Given the description of an element on the screen output the (x, y) to click on. 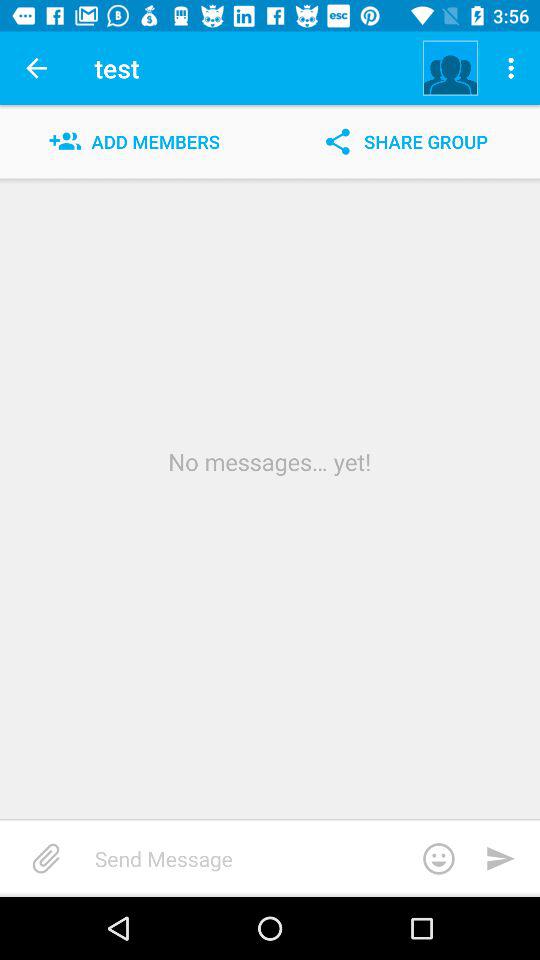
select the icon next to test (450, 67)
